Given the description of an element on the screen output the (x, y) to click on. 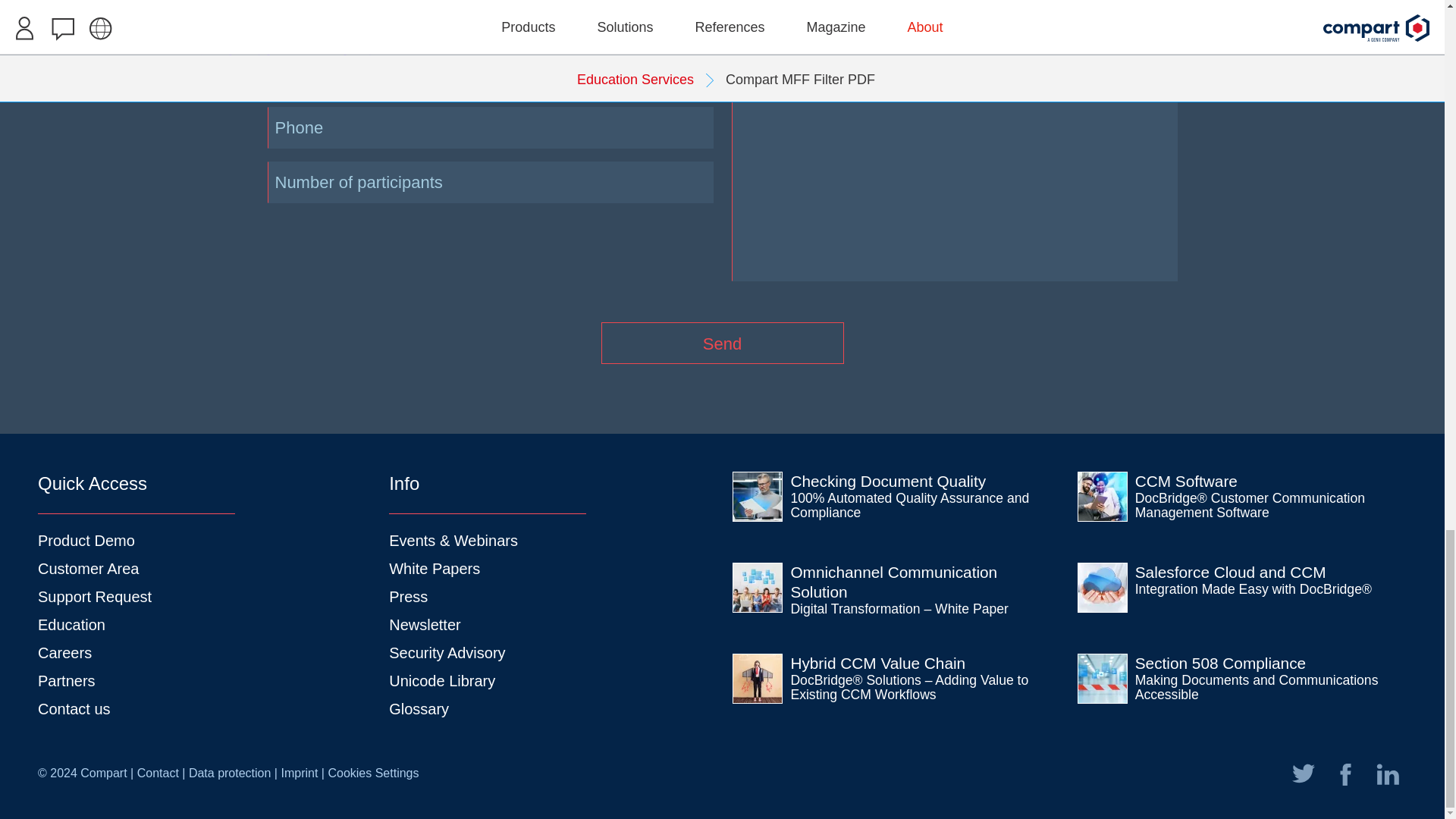
Partners (66, 680)
Support Request (94, 596)
Document Checking - Automated Quality Assurance (909, 505)
Press (408, 596)
Events and Webinars (453, 540)
Customer Area (87, 568)
Document Checking - Automated Quality Assurance (757, 496)
Contact us (73, 709)
Security Advisory (446, 652)
Product Demo (86, 540)
Unicode Library (441, 680)
Newsletter (424, 624)
Careers (64, 652)
Glossary (418, 709)
Automated Checking of Document Quality (887, 480)
